Given the description of an element on the screen output the (x, y) to click on. 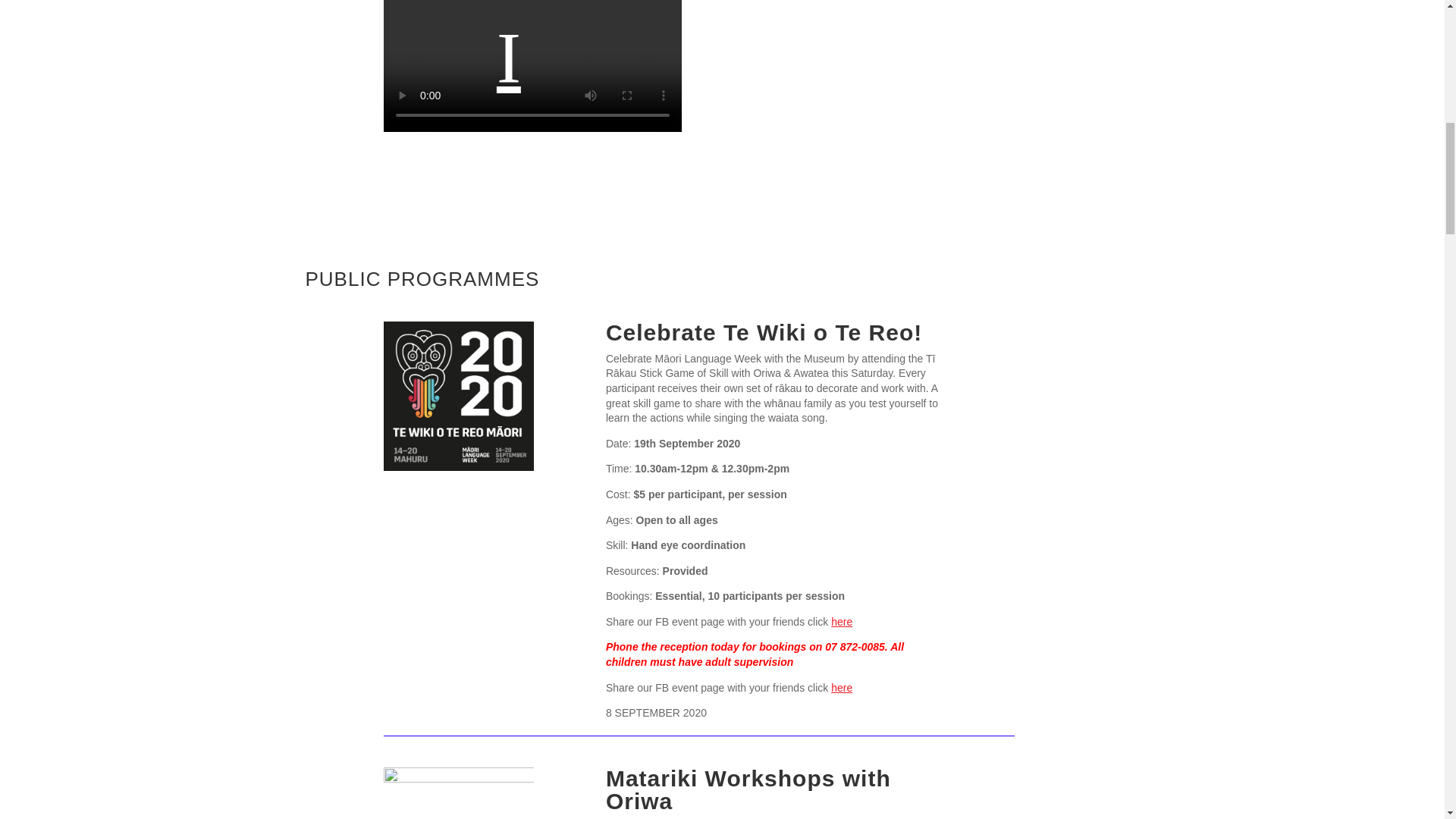
here (841, 621)
Stand At Dawn Activities (865, 75)
PUBLIC PROGRAMMES (421, 278)
here (841, 687)
